Given the description of an element on the screen output the (x, y) to click on. 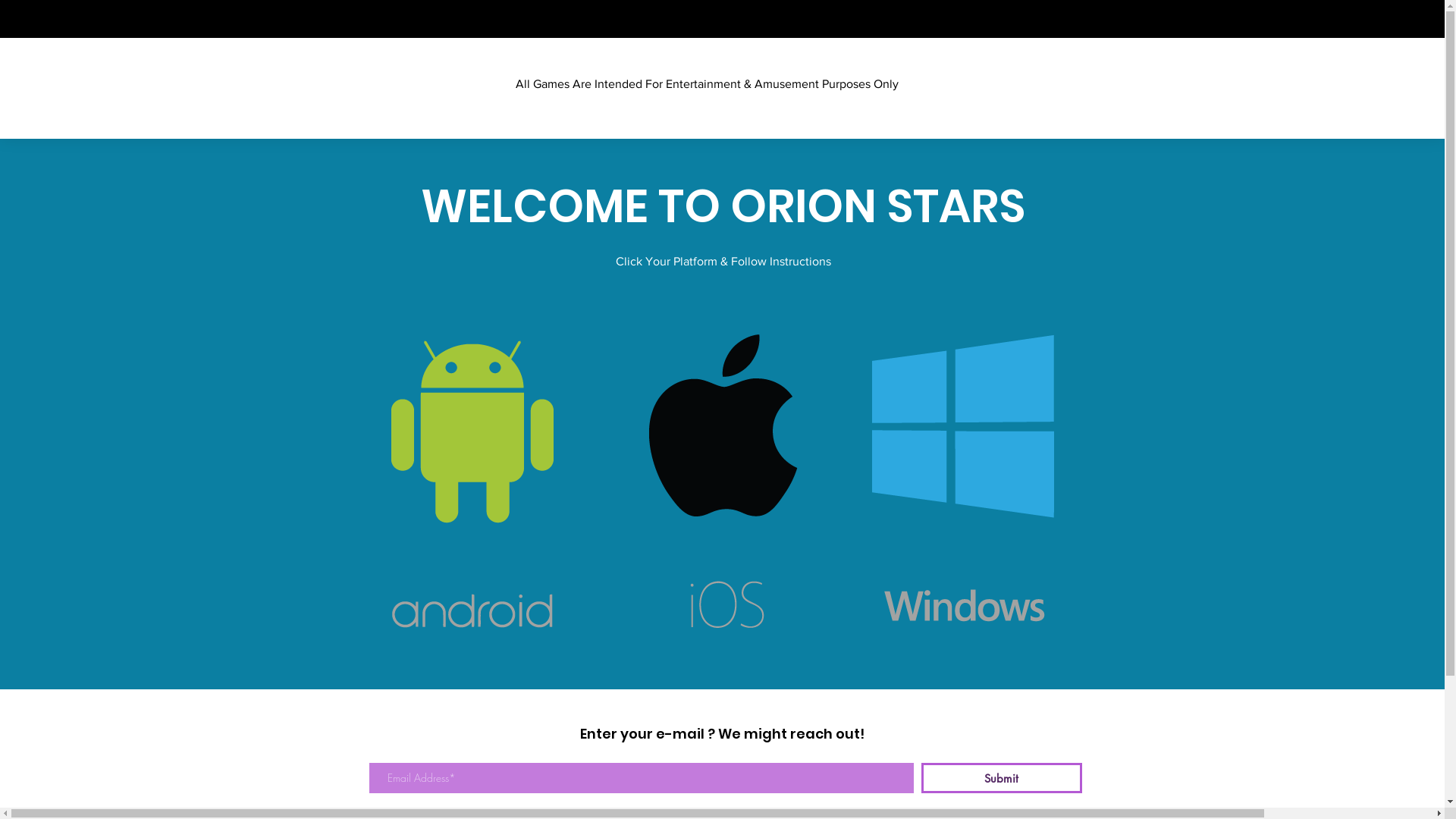
Submit Element type: text (1000, 777)
